Given the description of an element on the screen output the (x, y) to click on. 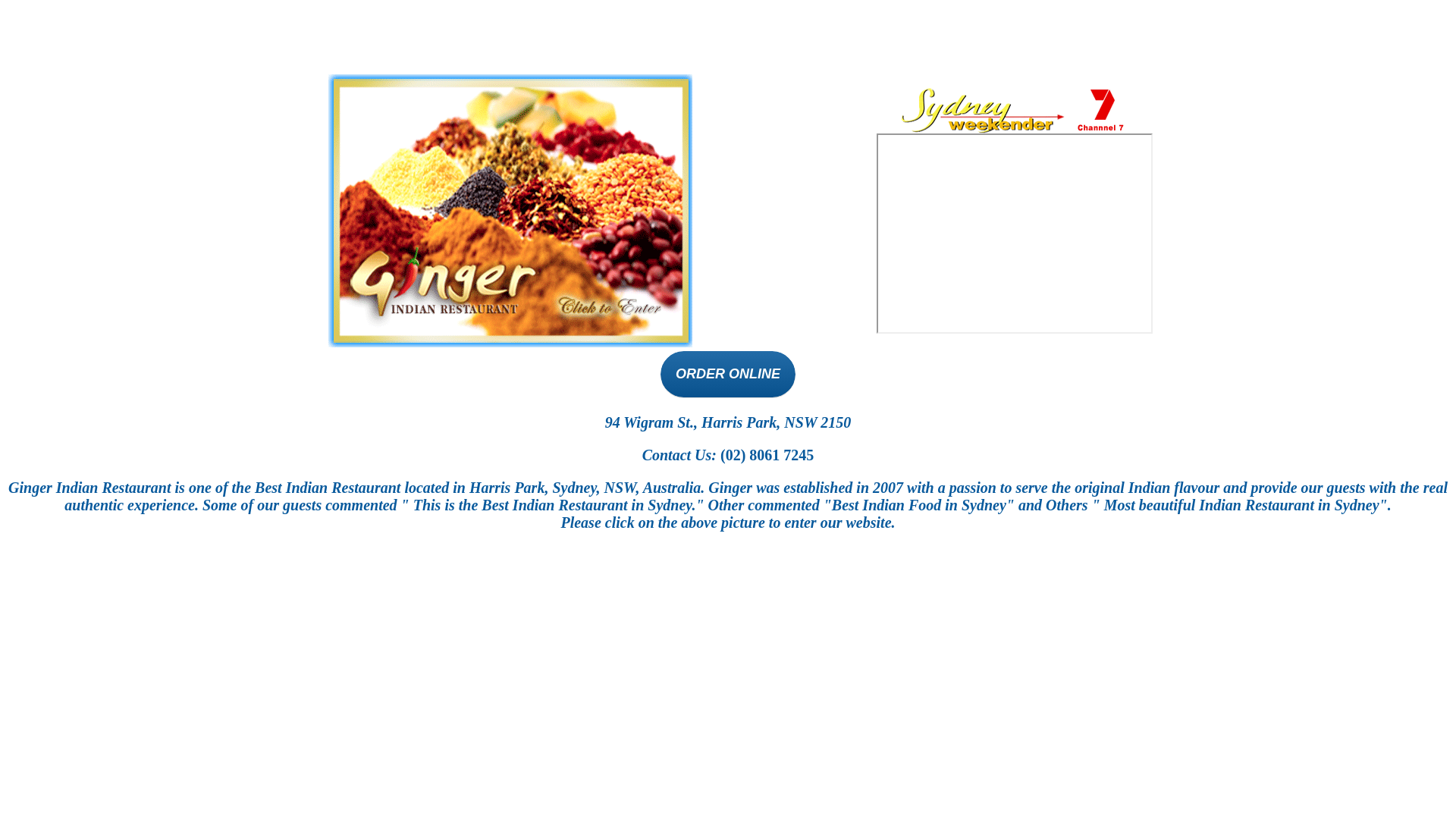
ON CHANNEL 7 Element type: hover (1014, 233)
